Given the description of an element on the screen output the (x, y) to click on. 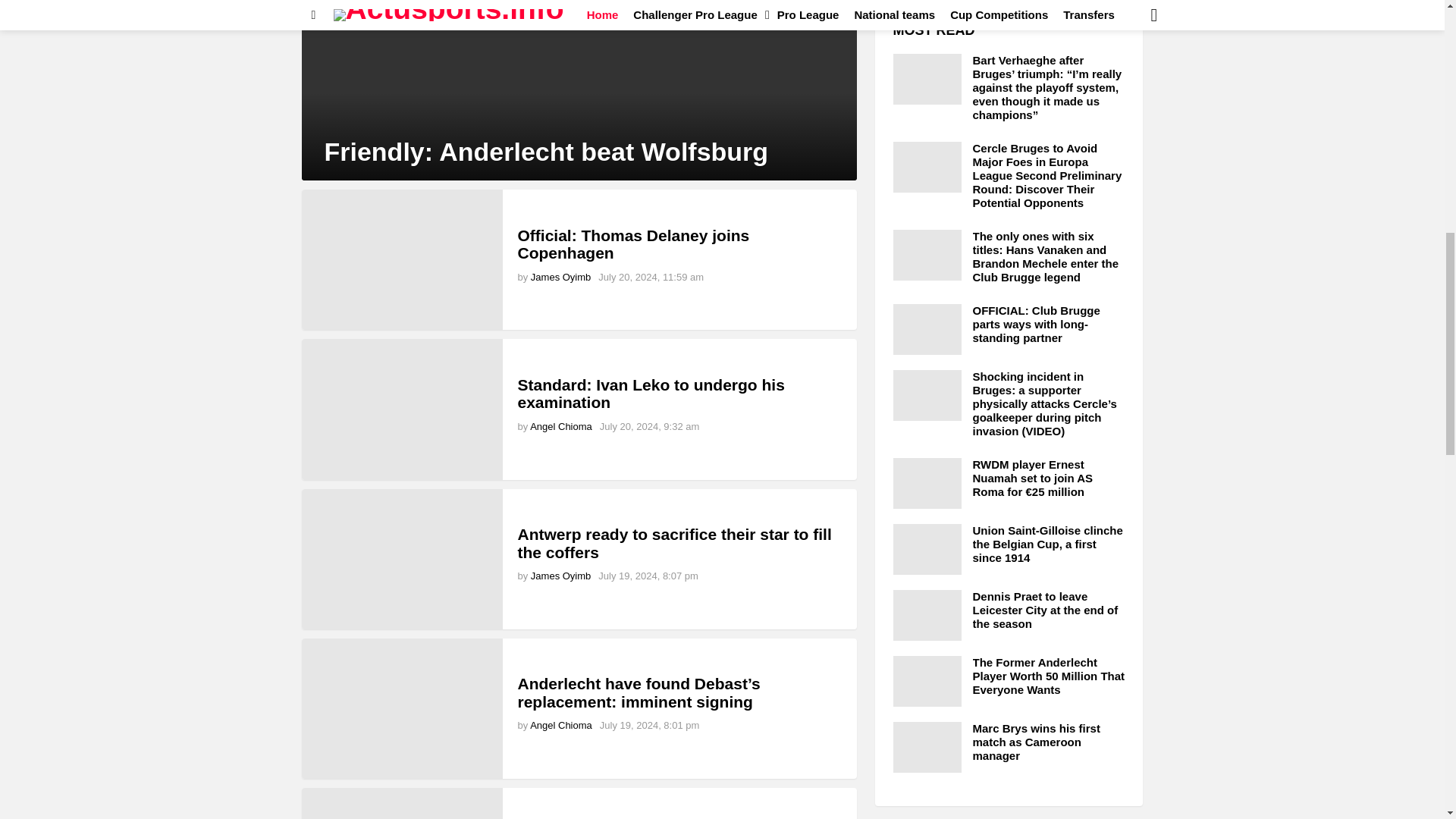
Antwerp ready to sacrifice their star to fill the coffers (673, 543)
Standard: Ivan Leko to undergo his examination (650, 393)
Posts by Angel Chioma (560, 725)
James Oyimb (561, 575)
Official: Thomas Delaney joins Copenhagen (632, 244)
Official: Thomas Delaney joins Copenhagen (401, 259)
Several Genk players out for Standard clash (401, 803)
James Oyimb (561, 276)
Standard: Ivan Leko to undergo his examination (401, 409)
Friendly: Anderlecht beat Wolfsburg (579, 90)
Posts by James Oyimb (561, 575)
Angel Chioma (560, 725)
Posts by James Oyimb (561, 276)
Posts by Angel Chioma (560, 426)
Angel Chioma (560, 426)
